Given the description of an element on the screen output the (x, y) to click on. 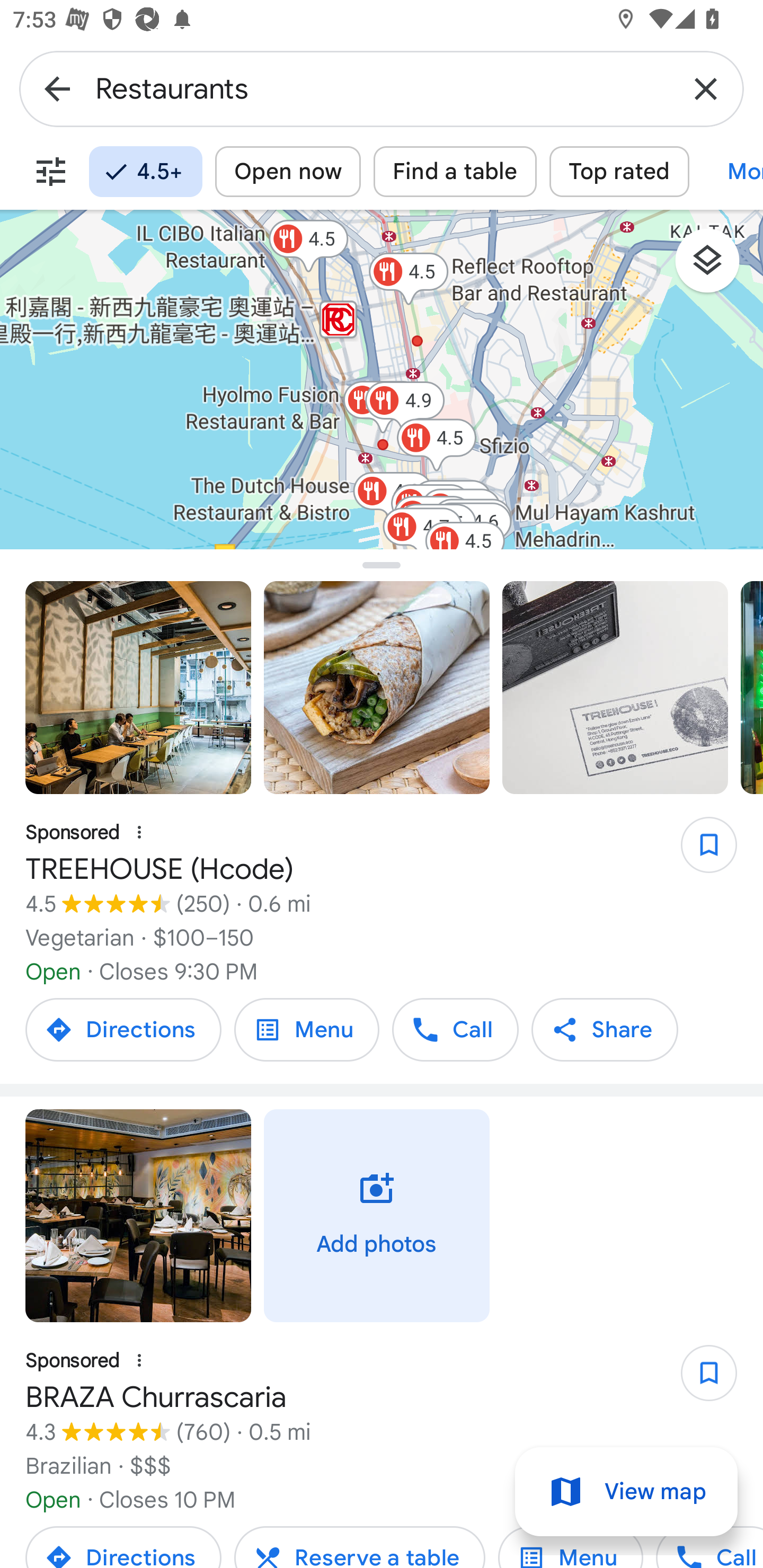
Back (57, 88)
Restaurants (381, 88)
Clear (705, 88)
More filters (50, 171)
4.5+ 4.5+ 4.5+ (145, 171)
Open now Open now Open now (287, 171)
Find a table Find a table Find a table (454, 171)
Top rated Top rated Top rated (618, 171)
Layers (716, 267)
Photo (138, 687)
Photo (376, 687)
Photo (614, 687)
About this ad (139, 832)
Save TREEHOUSE (Hcode) to lists (699, 851)
TREEHOUSE (Hcode) Menu Menu TREEHOUSE (Hcode) Menu (306, 1028)
Photo (138, 1214)
Add photos (376, 1214)
About this ad (139, 1359)
Save BRAZA Churrascaria to lists (699, 1378)
View map Map view (626, 1491)
Reserve a table Reserve a table Reserve a table (359, 1543)
